Given the description of an element on the screen output the (x, y) to click on. 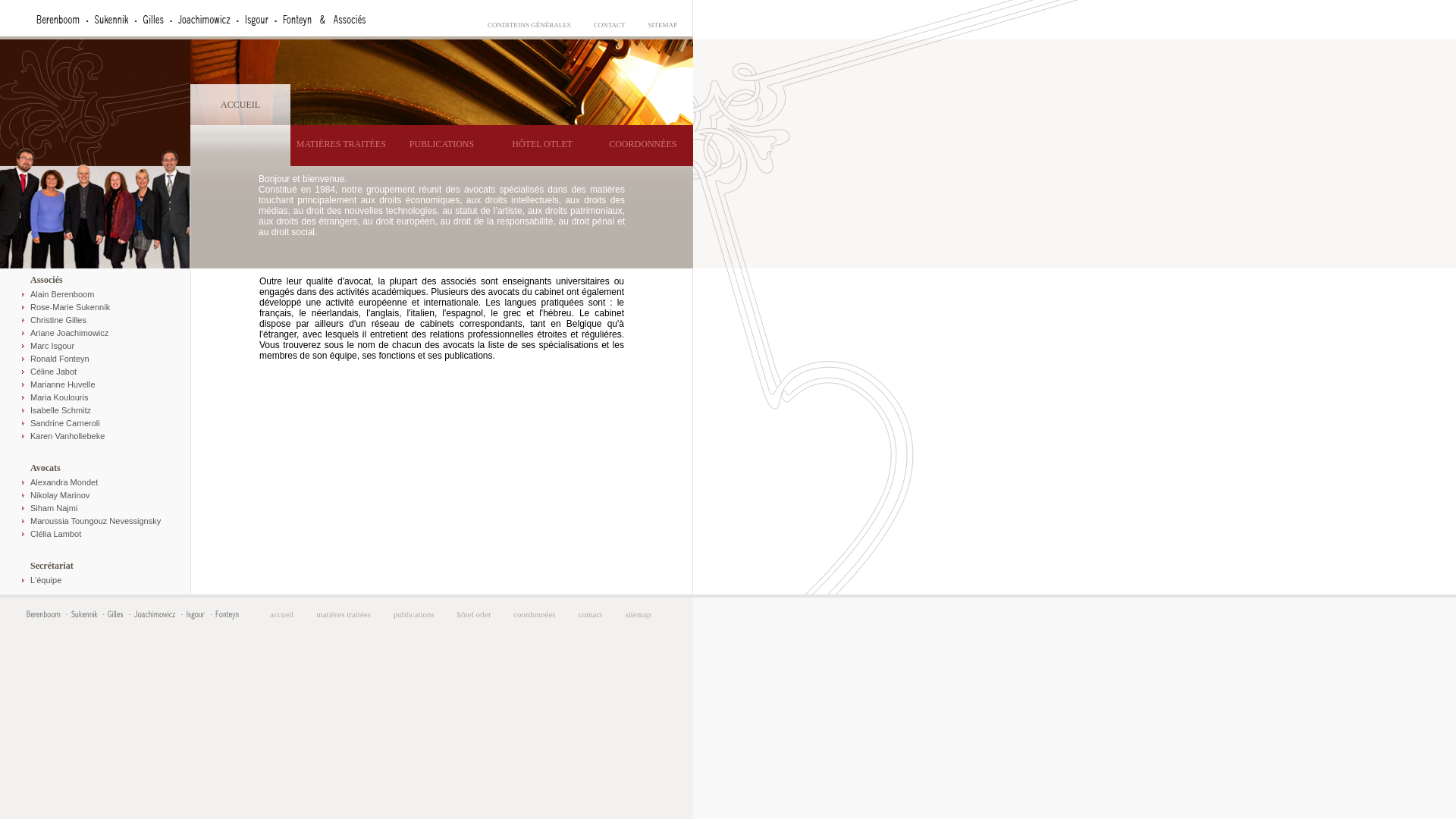
Alexandra Mondet Element type: text (95, 482)
Christine Gilles Element type: text (95, 319)
Maria Koulouris Element type: text (95, 397)
Alain Berenboom Element type: text (95, 294)
contact Element type: text (590, 613)
Sandrine Carneroli Element type: text (95, 423)
Nikolay Marinov Element type: text (95, 495)
Ariane Joachimowicz Element type: text (95, 332)
accueil Element type: text (281, 613)
sitemap Element type: text (637, 613)
Ronald Fonteyn Element type: text (95, 358)
publications Element type: text (413, 613)
Siham Najmi Element type: text (95, 508)
PUBLICATIONS Element type: text (441, 145)
SITEMAP Element type: text (662, 24)
Isabelle Schmitz Element type: text (95, 410)
CONTACT Element type: text (609, 24)
Karen Vanhollebeke Element type: text (95, 435)
Rose-Marie Sukennik Element type: text (95, 307)
Marianne Huvelle Element type: text (95, 384)
Marc Isgour Element type: text (95, 345)
Maroussia Toungouz Nevessignsky Element type: text (95, 520)
